Given the description of an element on the screen output the (x, y) to click on. 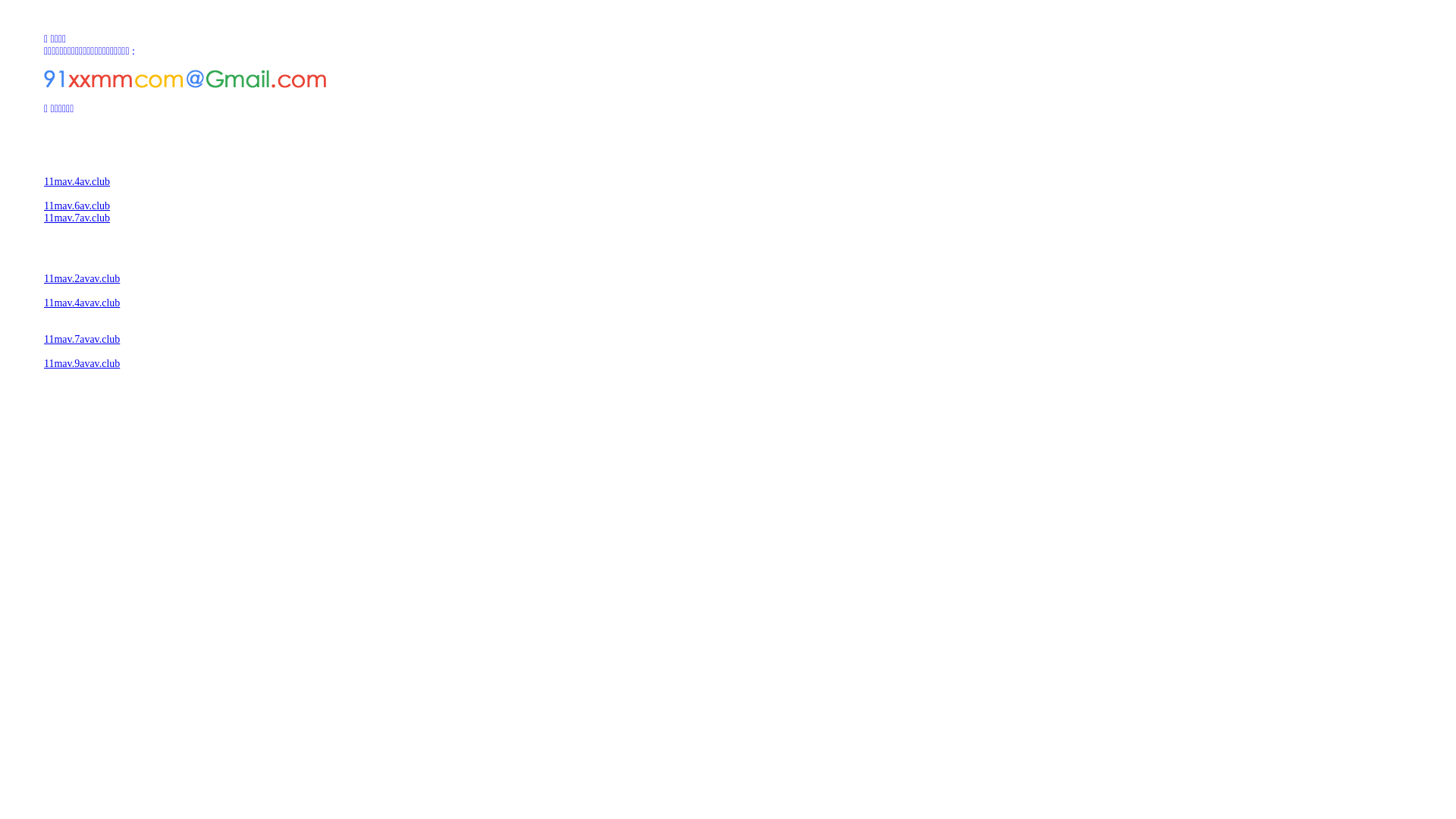
11mav.4avav.club Element type: text (81, 302)
11mav.2avav.club Element type: text (81, 278)
11mav.7avav.club Element type: text (81, 339)
11mav.4av.club Element type: text (76, 181)
11mav.9avav.club Element type: text (81, 363)
11mav.6av.club Element type: text (76, 205)
11mav.7av.club Element type: text (76, 217)
